Given the description of an element on the screen output the (x, y) to click on. 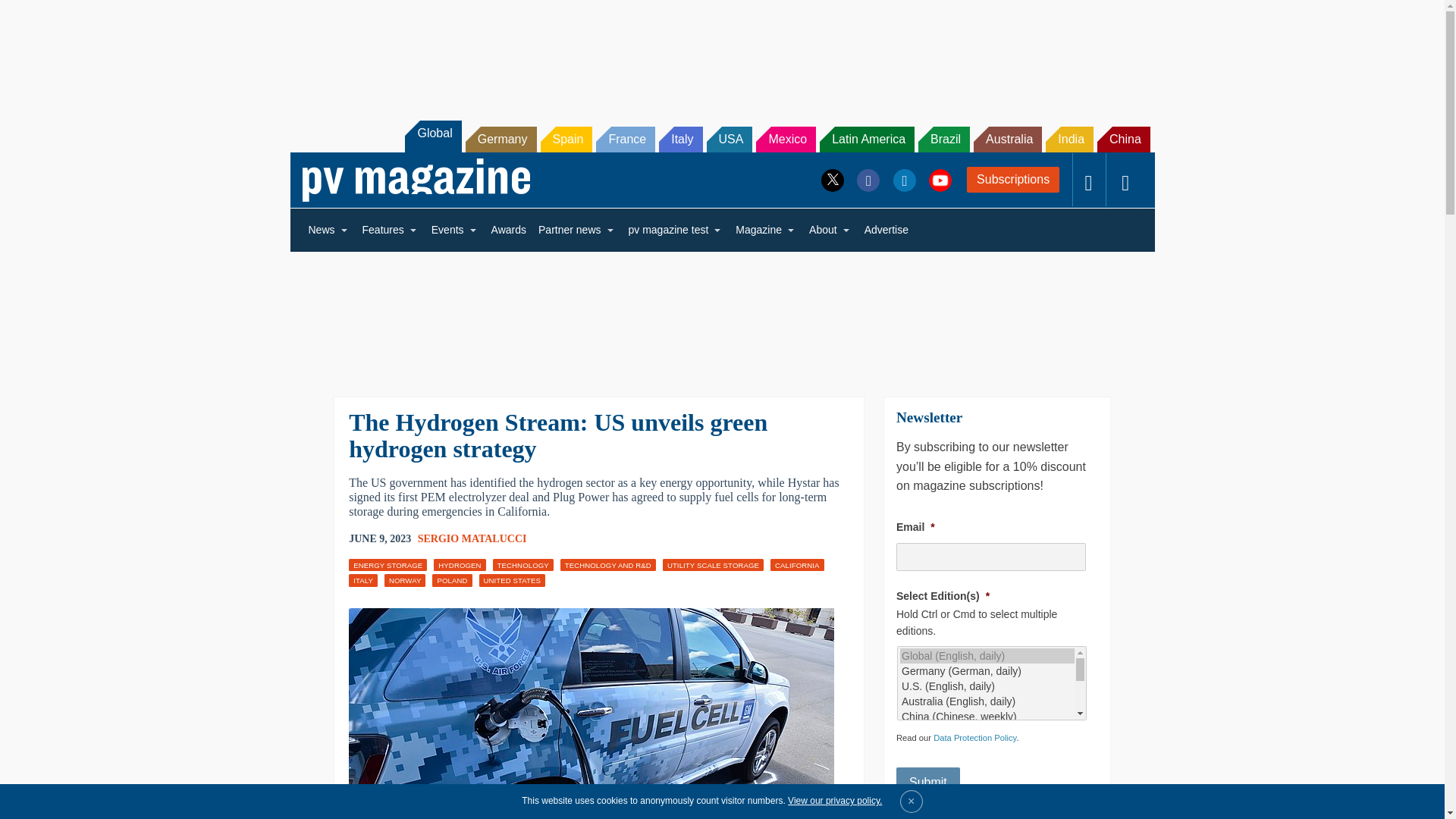
Friday, June 9, 2023, 11:15 am (379, 538)
3rd party ad content (721, 314)
Spain (566, 139)
Posts by Sergio Matalucci (472, 538)
Australia (1008, 139)
Germany (501, 139)
China (1123, 139)
Brazil (943, 139)
India (1069, 139)
Submit (927, 782)
3rd party ad content (721, 51)
USA (729, 139)
pv magazine - Photovoltaics Markets and Technology (415, 179)
pv magazine - Photovoltaics Markets and Technology (415, 180)
Subscriptions (1012, 179)
